Given the description of an element on the screen output the (x, y) to click on. 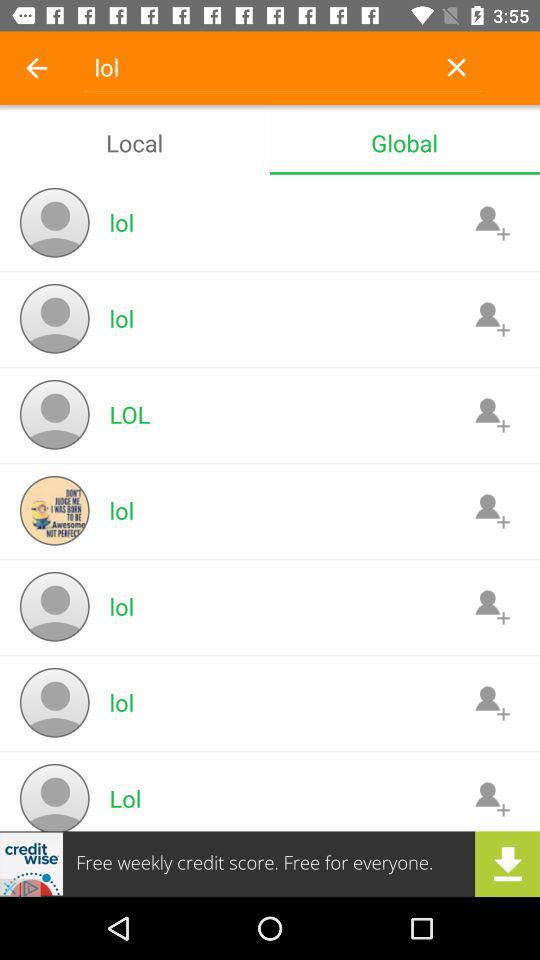
add to contact (492, 797)
